Given the description of an element on the screen output the (x, y) to click on. 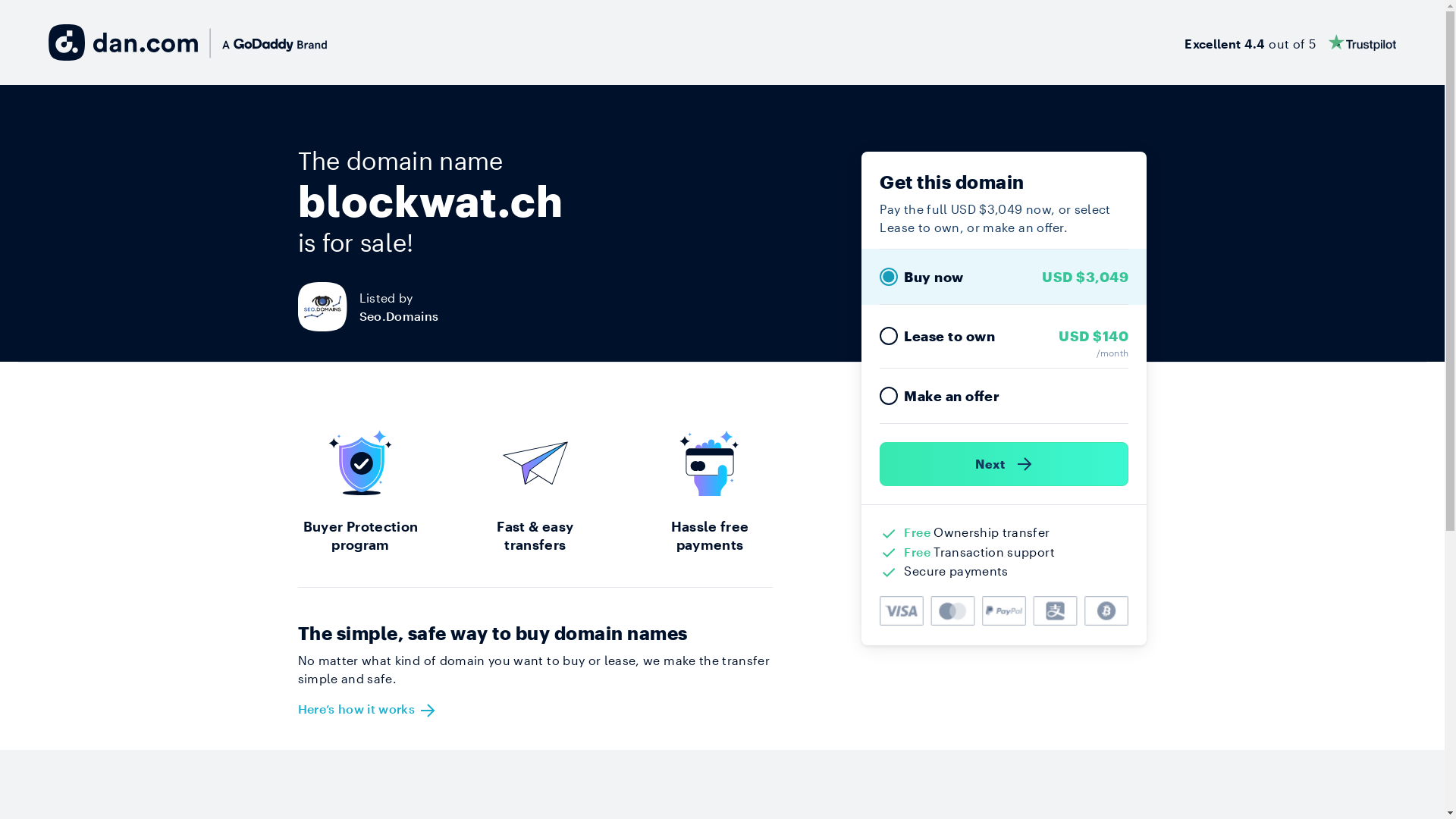
Next
) Element type: text (1003, 464)
Excellent 4.4 out of 5 Element type: text (1290, 42)
